Given the description of an element on the screen output the (x, y) to click on. 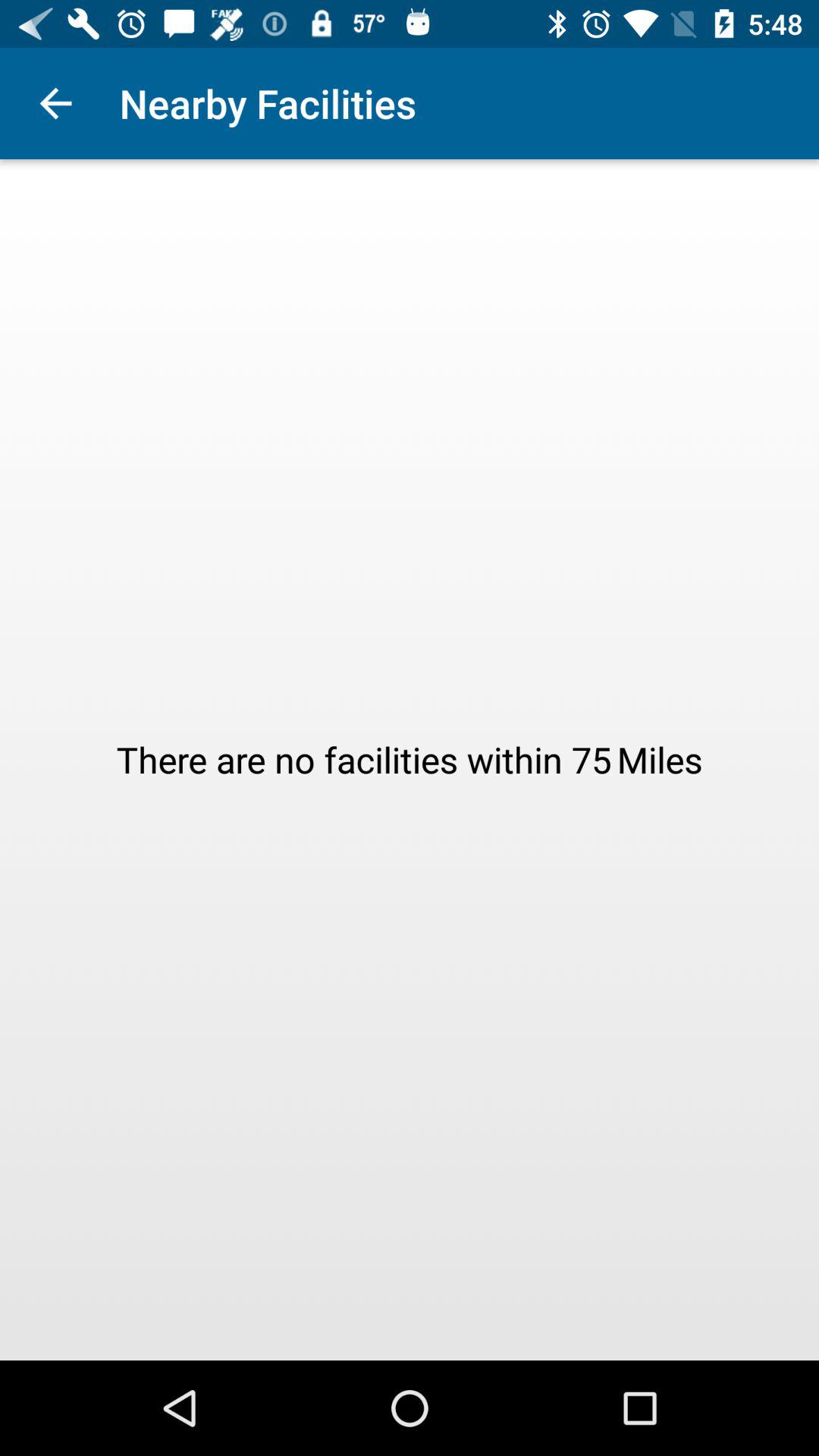
turn off icon above there are no item (55, 103)
